Given the description of an element on the screen output the (x, y) to click on. 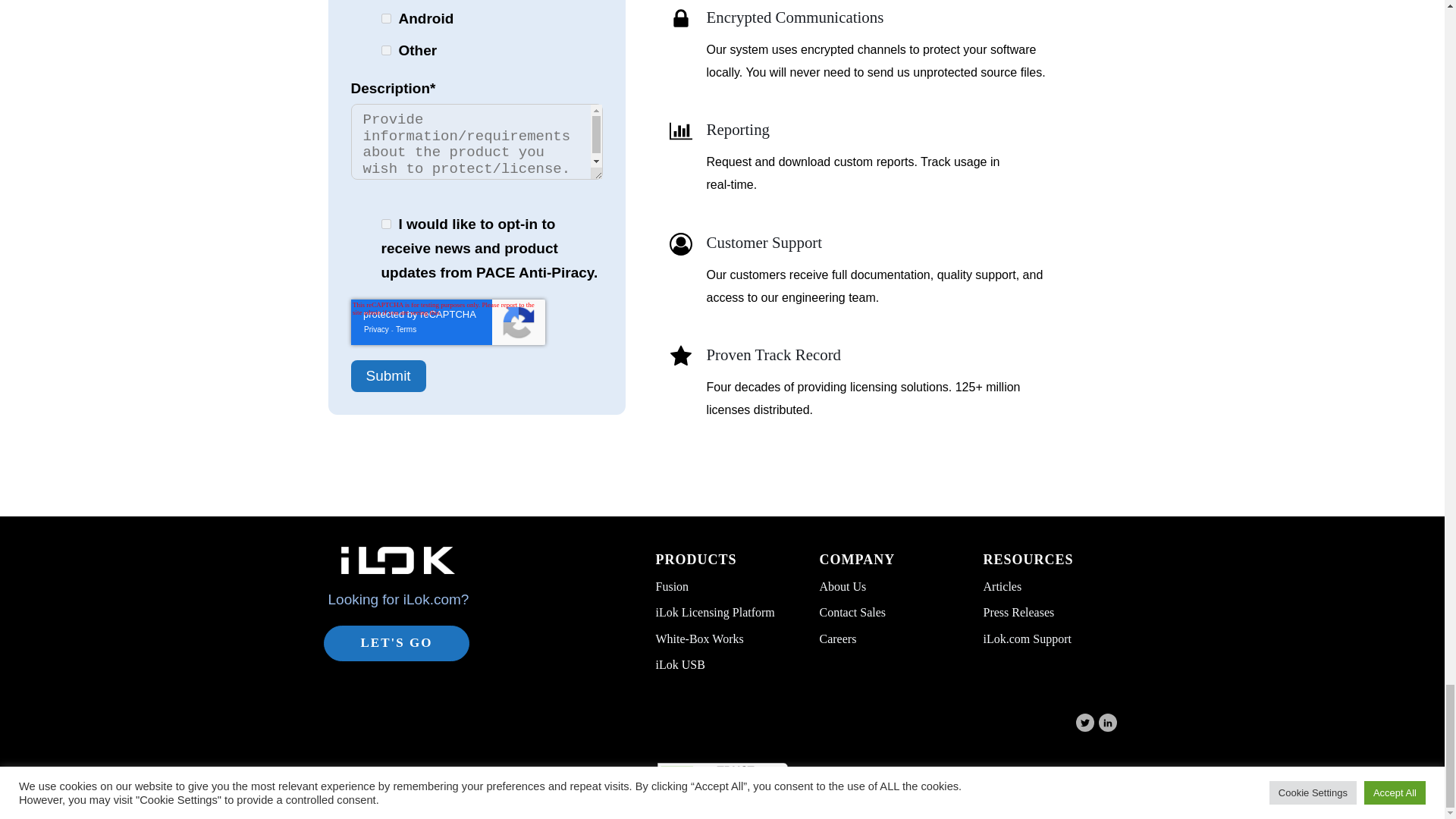
Android (385, 18)
Other (385, 50)
reCAPTCHA (447, 321)
true (385, 224)
Submit (387, 376)
